Given the description of an element on the screen output the (x, y) to click on. 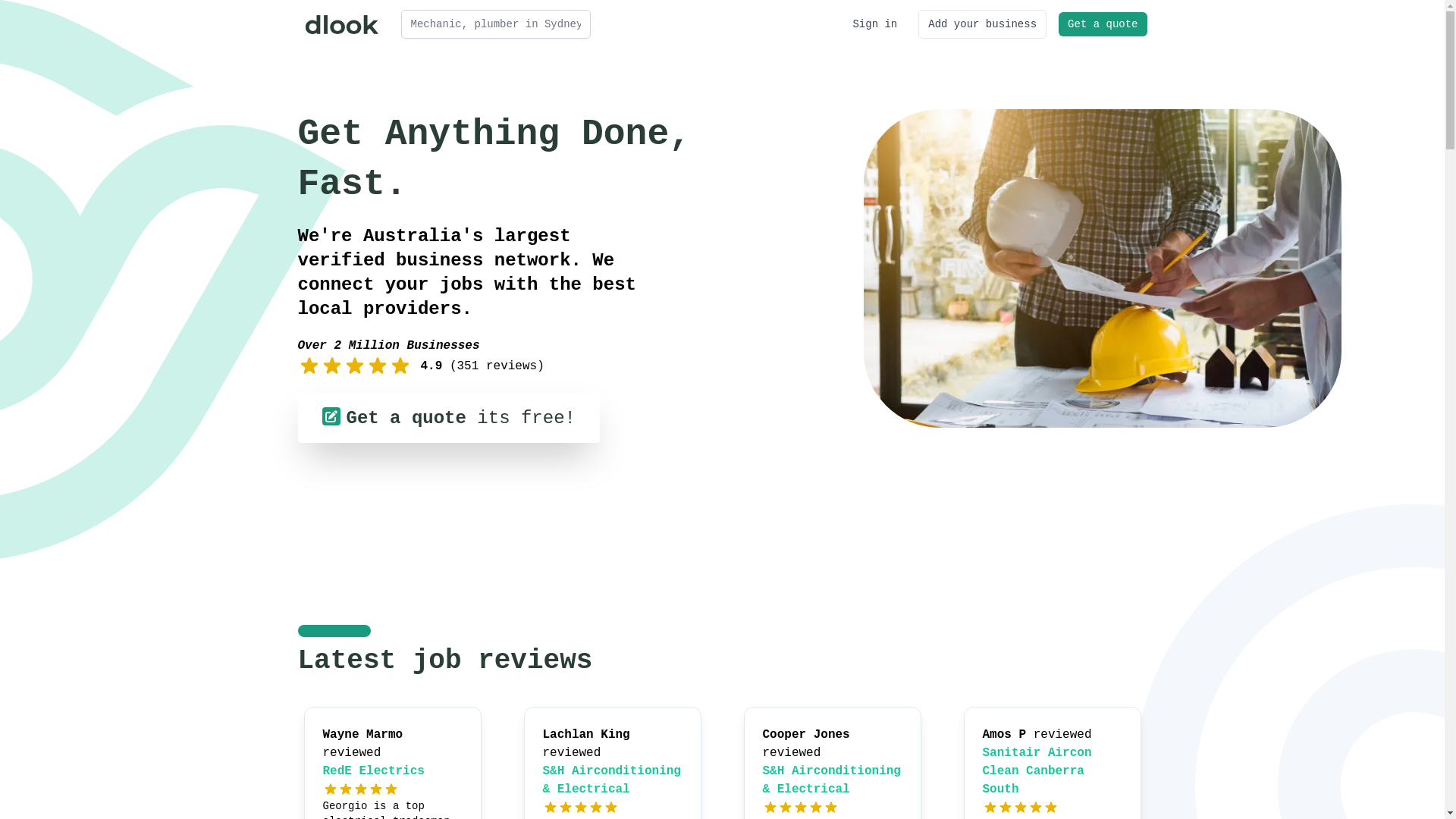
S&H Airconditioning & Electrical Element type: text (831, 780)
RedE Electrics Element type: text (373, 771)
Sign in Element type: text (874, 23)
Add your business Element type: text (982, 23)
Sanitair Aircon Clean Canberra South Element type: text (1037, 771)
S&H Airconditioning & Electrical Element type: text (611, 780)
Get a quote Element type: text (1102, 24)
Get a quote its free! Element type: text (448, 417)
